Given the description of an element on the screen output the (x, y) to click on. 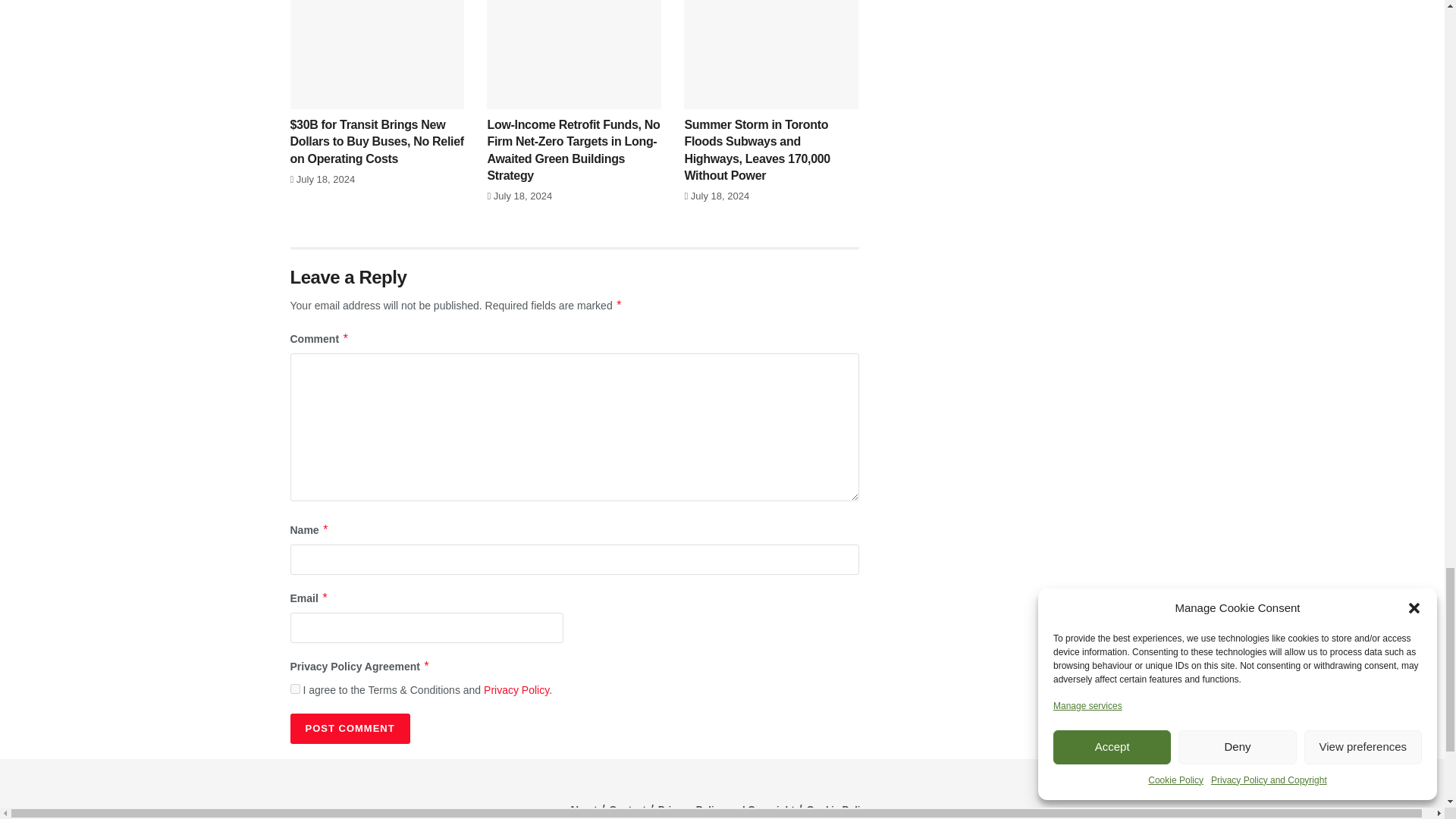
tem-logo-2024 (294, 802)
on (294, 688)
Post Comment (349, 728)
